Given the description of an element on the screen output the (x, y) to click on. 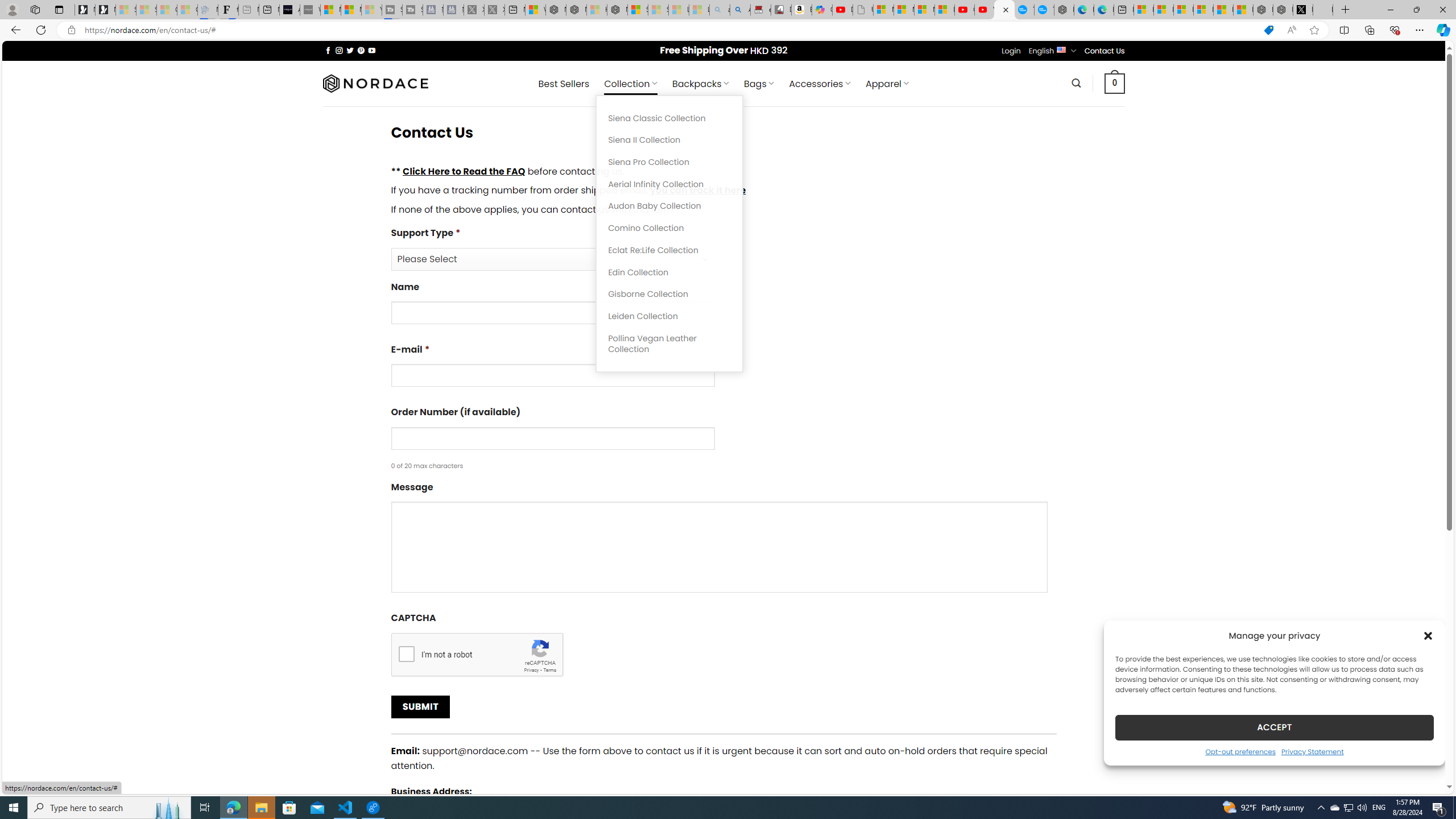
Gisborne Collection (669, 294)
Nordace - Contact Us (1004, 9)
Support Type* (723, 248)
Pollina Vegan Leather Collection (669, 343)
Message (719, 546)
Streaming Coverage | T3 - Sleeping (392, 9)
Siena Pro Collection (669, 162)
CAPTCHAPrivacyTerms (723, 643)
Click Here to Read the FAQ (463, 170)
